Given the description of an element on the screen output the (x, y) to click on. 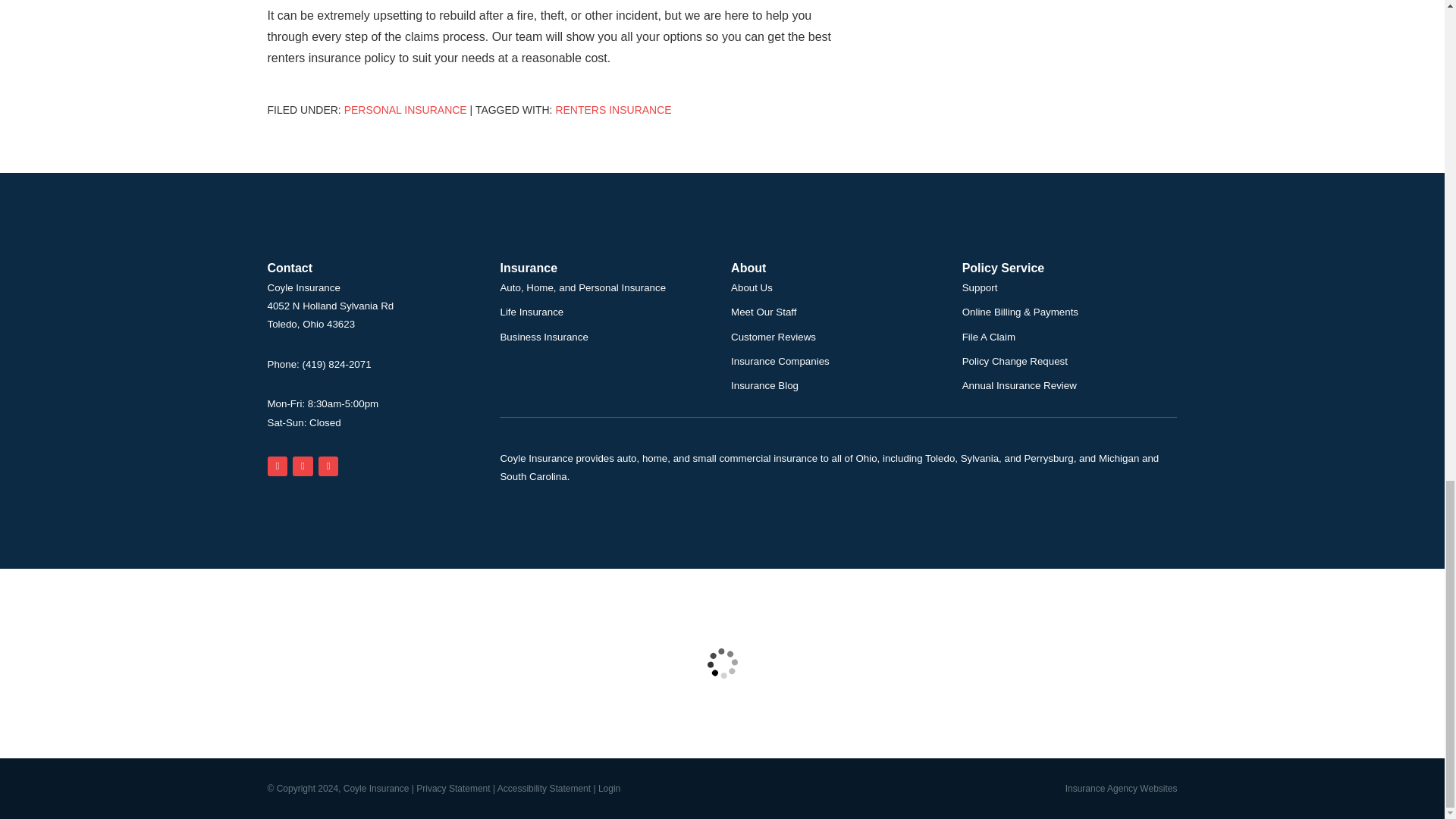
Personal Insurance (405, 110)
Google Maps (276, 466)
Yelp (302, 466)
Renters Insurance (612, 110)
Facebook (328, 466)
